Given the description of an element on the screen output the (x, y) to click on. 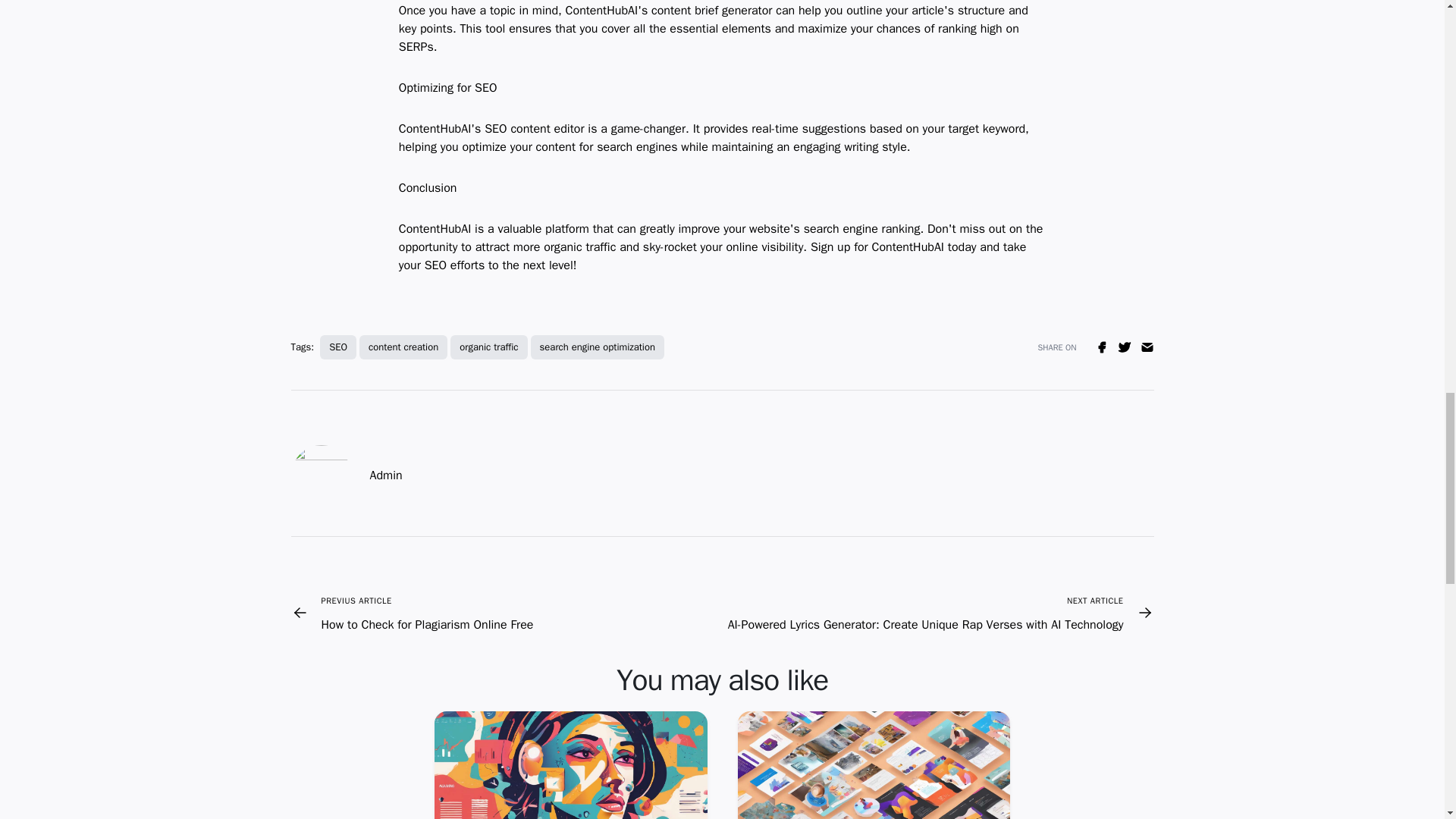
content creation (412, 612)
organic traffic (402, 346)
Admin (488, 346)
SEO (386, 475)
search engine optimization (338, 346)
